Given the description of an element on the screen output the (x, y) to click on. 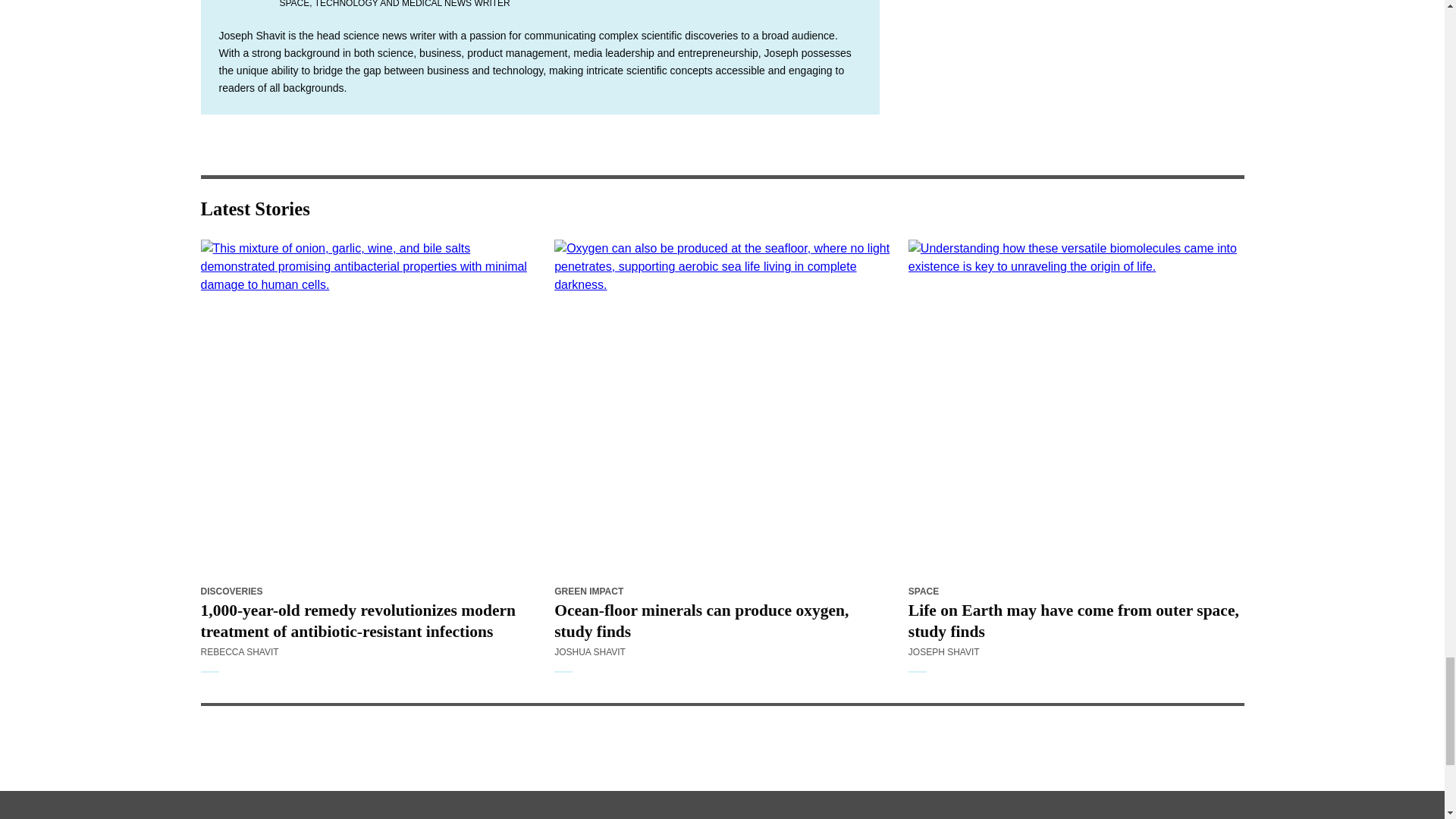
REBECCA SHAVIT (239, 652)
Ocean-floor minerals can produce oxygen, study finds (721, 407)
Life on Earth may have come from outer space, study finds (1076, 407)
DISCOVERIES (231, 591)
